Given the description of an element on the screen output the (x, y) to click on. 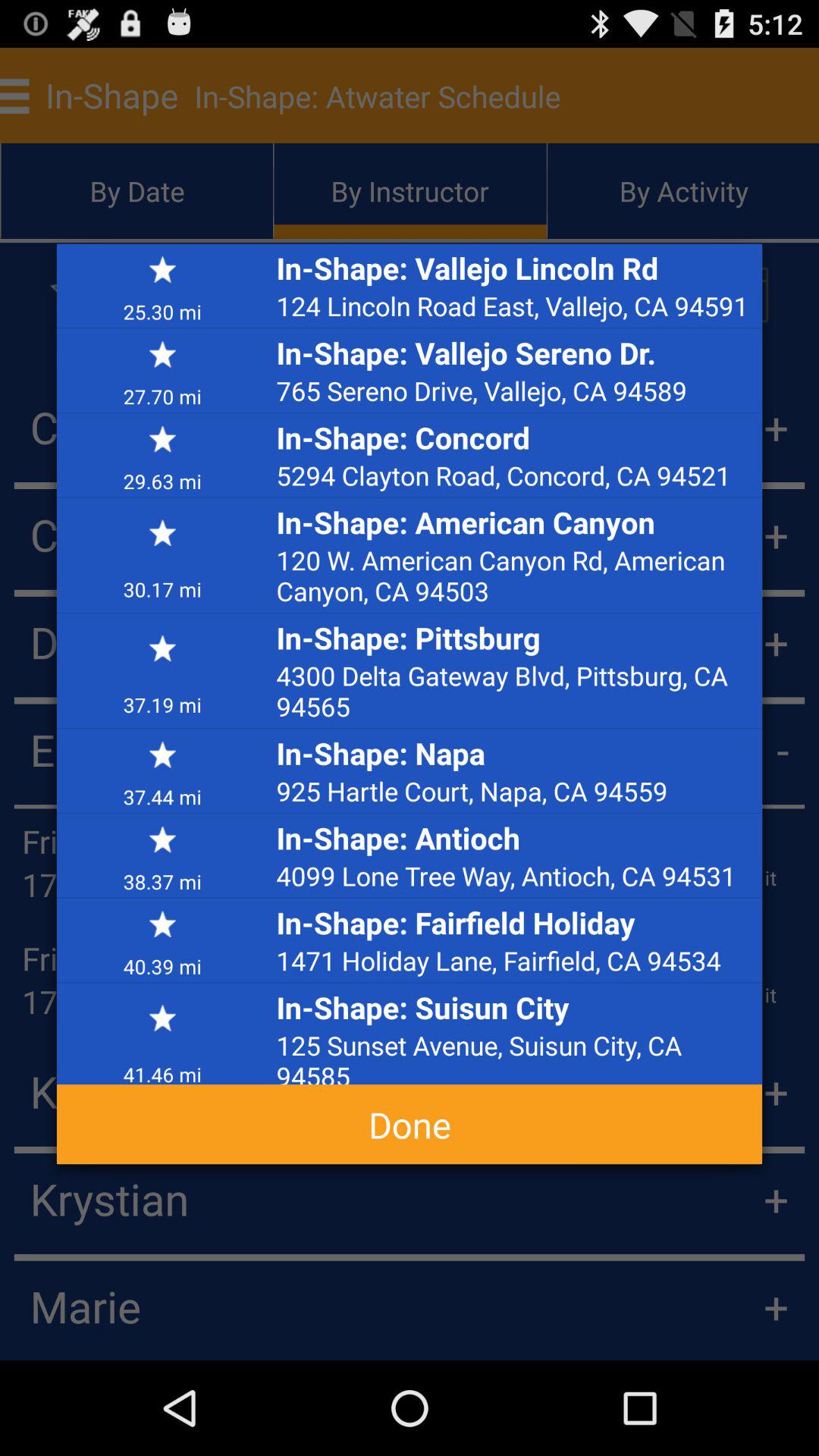
select the done (409, 1124)
